Given the description of an element on the screen output the (x, y) to click on. 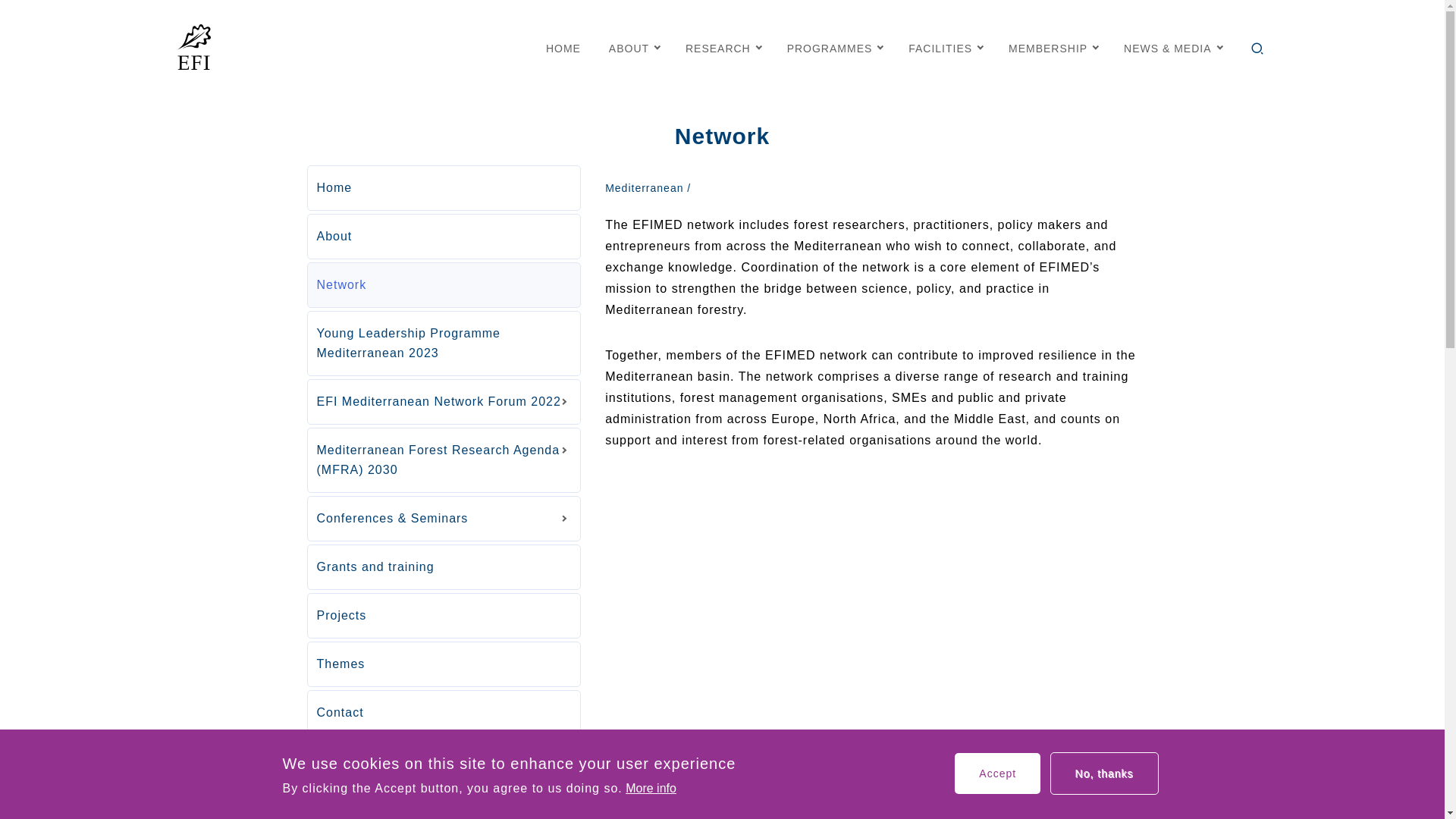
RESEARCH (721, 48)
ABOUT (633, 48)
PROGRAMMES (833, 48)
FACILITIES (943, 48)
MEMBERSHIP (1052, 48)
